Given the description of an element on the screen output the (x, y) to click on. 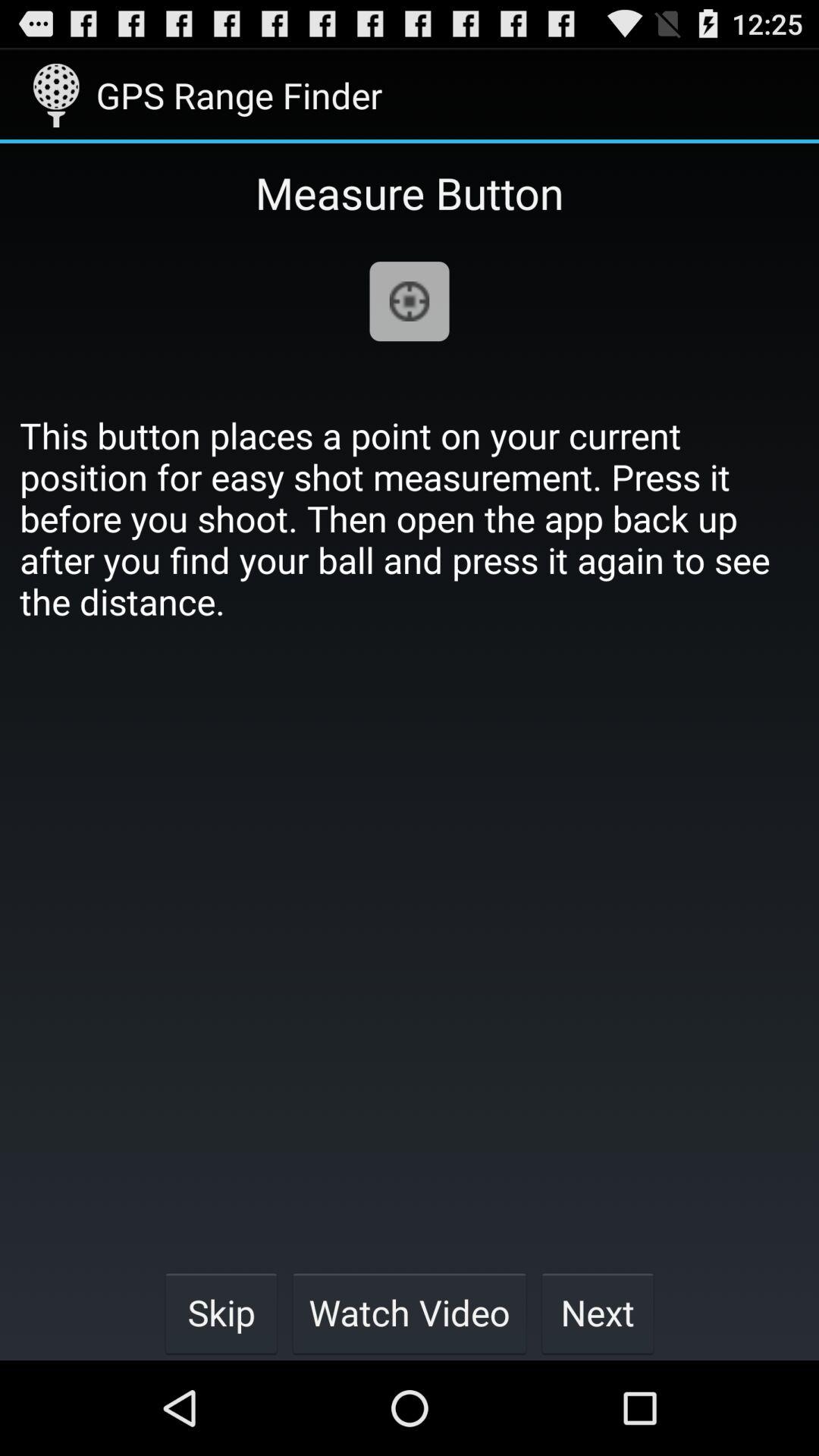
tap item at the bottom left corner (220, 1312)
